Given the description of an element on the screen output the (x, y) to click on. 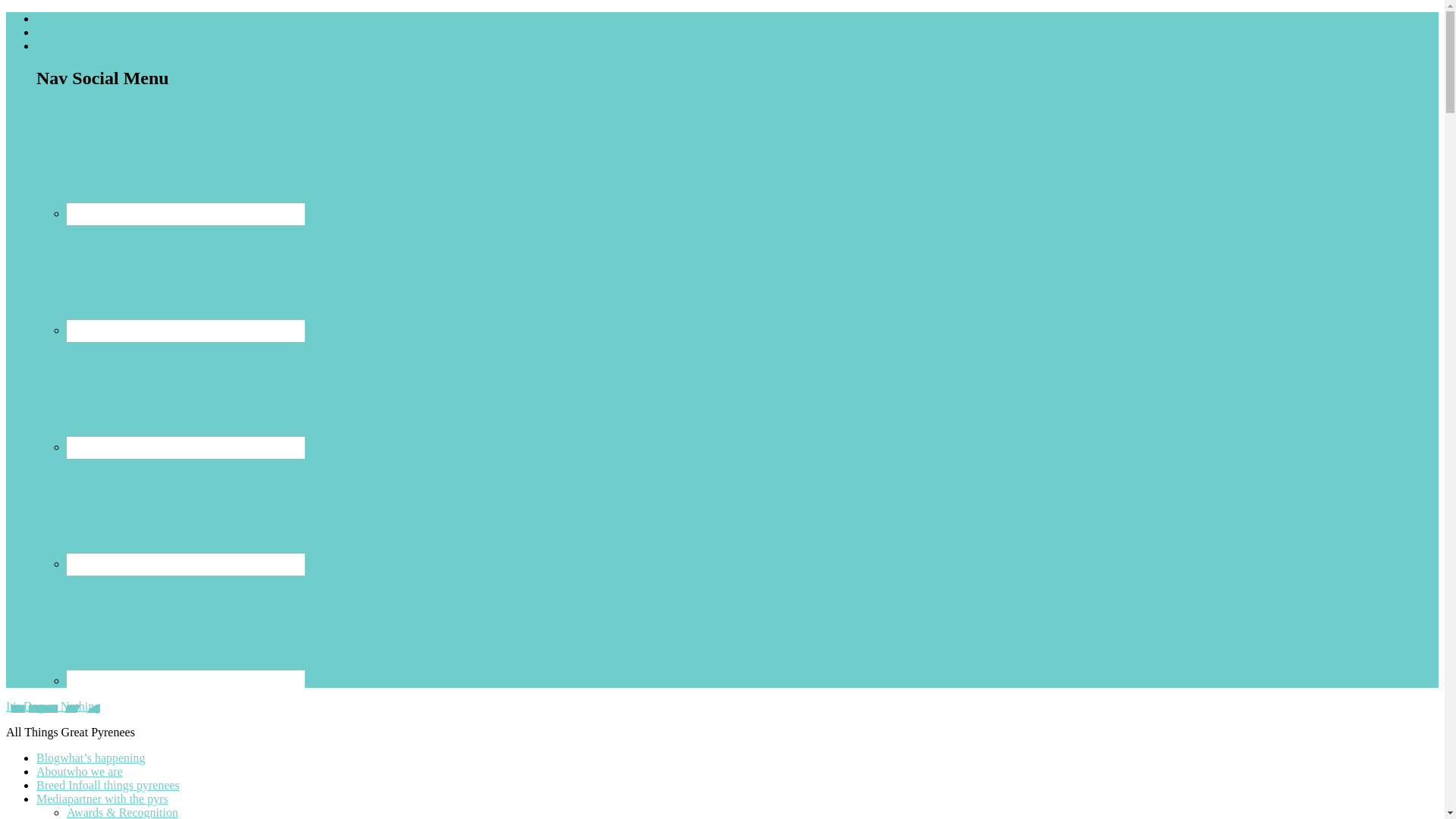
LinkedIn (185, 564)
Instagram (185, 447)
Pinterest (185, 627)
Instagram (185, 394)
LinkedIn (185, 511)
Facebook (185, 331)
Pinterest (185, 681)
Breed Infoall things pyrenees (107, 784)
Blog (47, 18)
Email (185, 214)
Mediapartner with the pyrs (102, 798)
Facebook (185, 277)
It's Dog or Nothing (52, 706)
Amazon Shop (70, 31)
Aboutwho we are (79, 771)
